Given the description of an element on the screen output the (x, y) to click on. 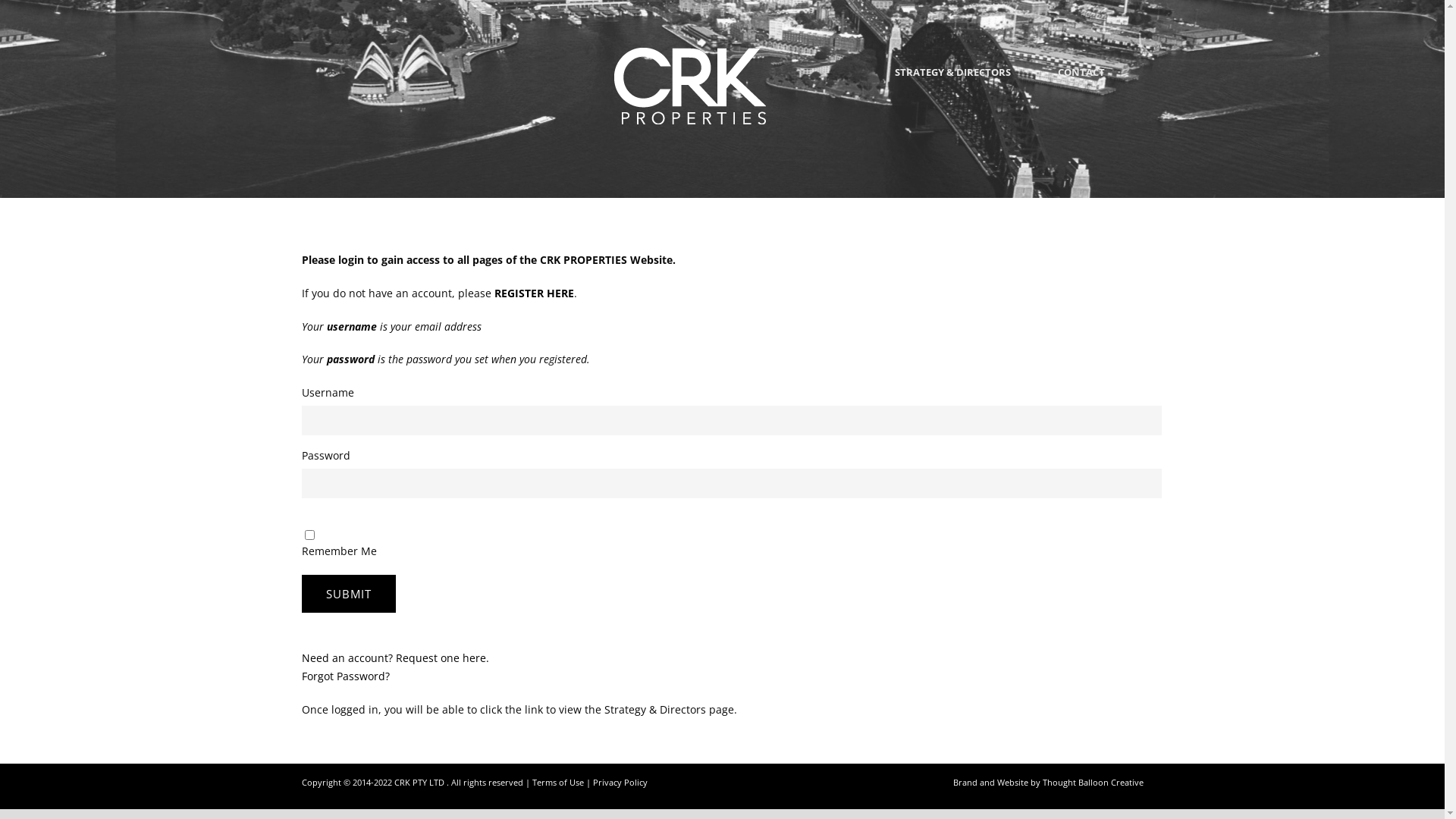
REGISTER HERE Element type: text (534, 292)
Brand and Website by Thought Balloon Creative Element type: text (1047, 781)
Forgot Password? Element type: text (345, 675)
Privacy Policy Element type: text (620, 781)
STRATEGY & DIRECTORS Element type: text (952, 83)
Need an account? Request one here. Element type: text (395, 657)
Terms of Use Element type: text (557, 781)
Submit Element type: text (348, 593)
CONTACT Element type: text (1072, 83)
